Given the description of an element on the screen output the (x, y) to click on. 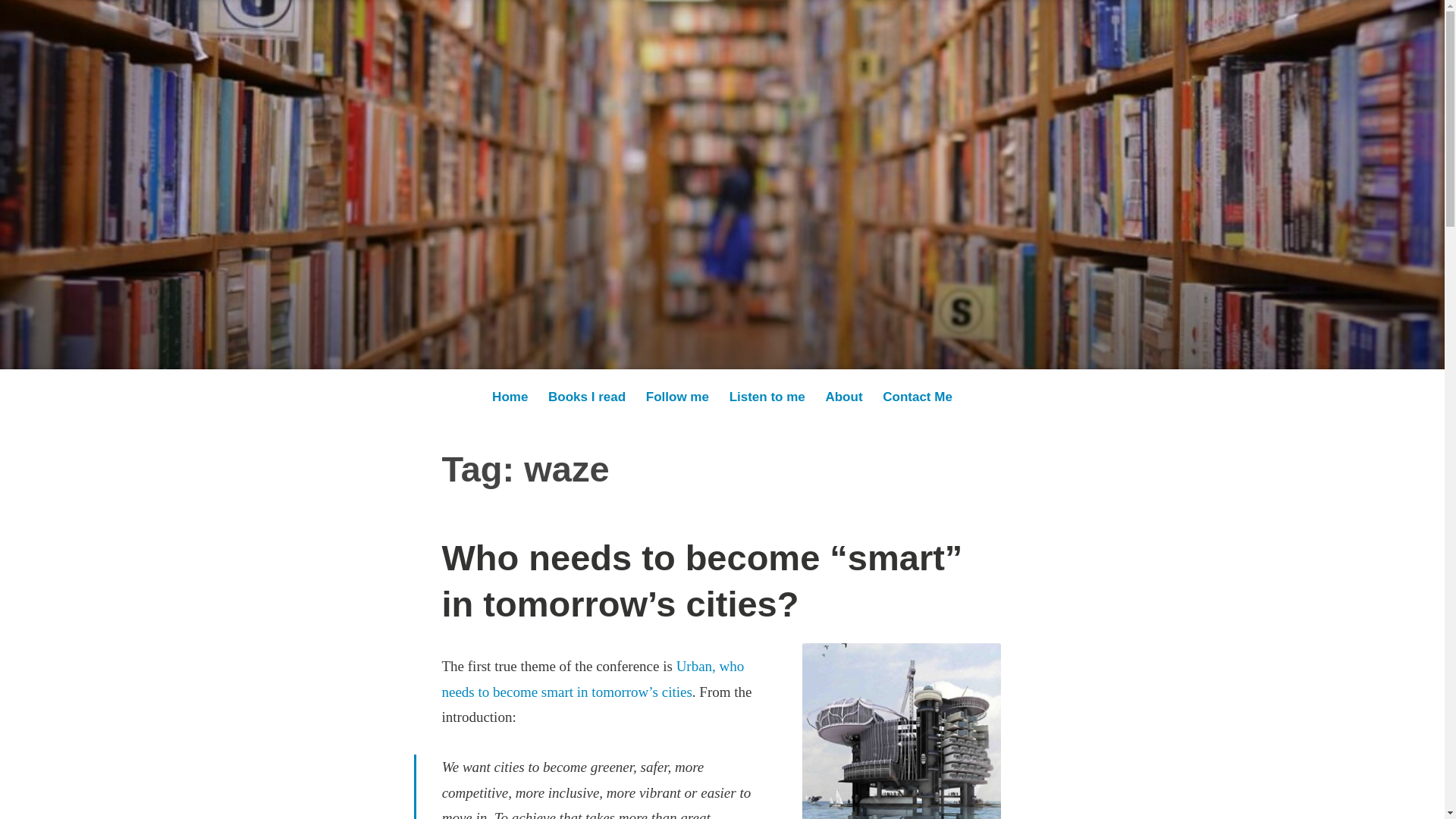
Contact Me (917, 397)
Home (510, 397)
Follow me (677, 397)
Listen to me (767, 397)
Medium Massage (318, 201)
Transforming abandoned oil platforms into ocean mini cities (901, 730)
Books I read (587, 397)
About (843, 397)
